Given the description of an element on the screen output the (x, y) to click on. 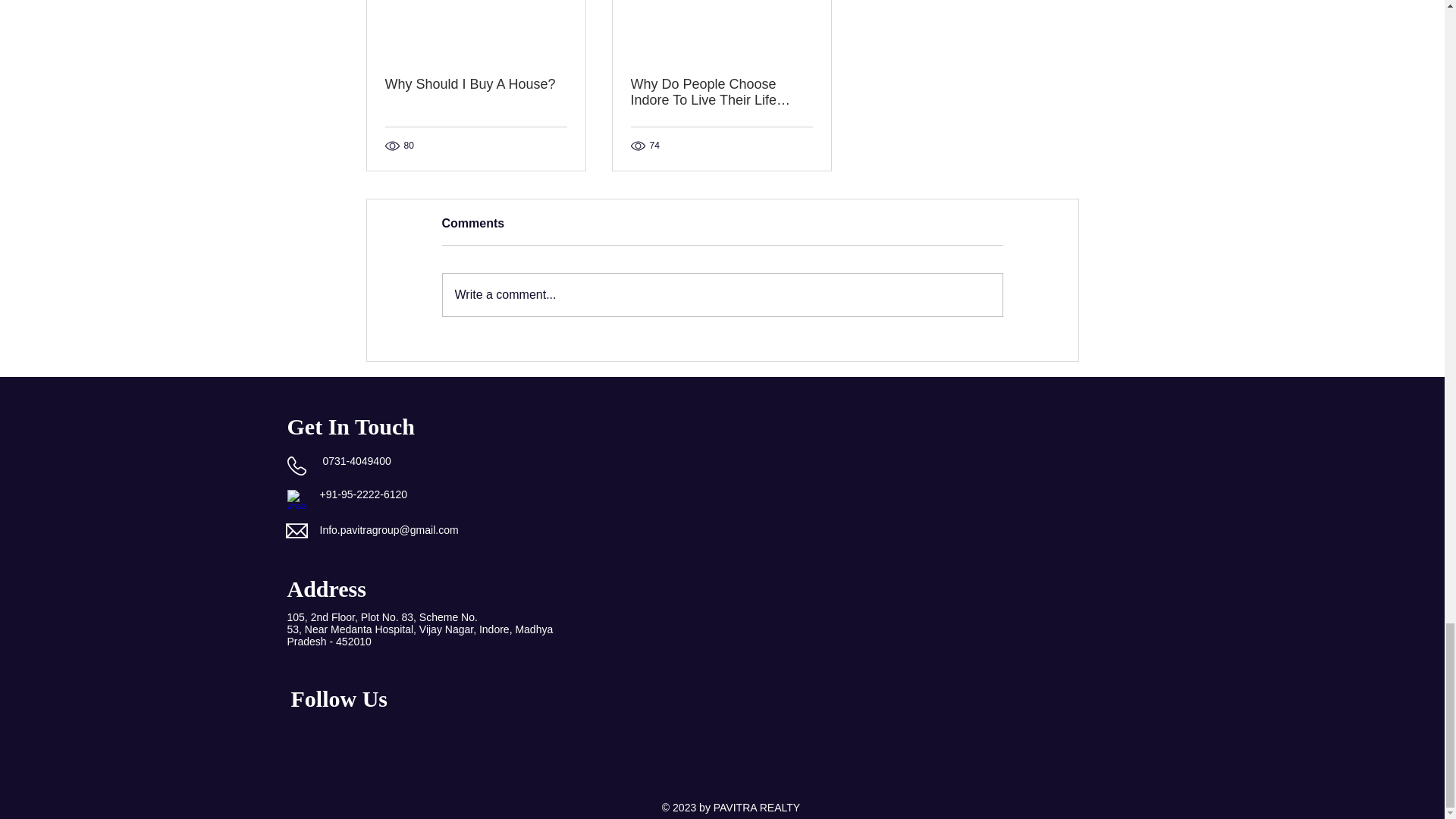
Why Do People Choose Indore To Live Their Life Here? (721, 92)
Get In Touch (349, 426)
Write a comment... (722, 294)
Why Should I Buy A House? (476, 84)
 0731-4049400 (355, 460)
